Given the description of an element on the screen output the (x, y) to click on. 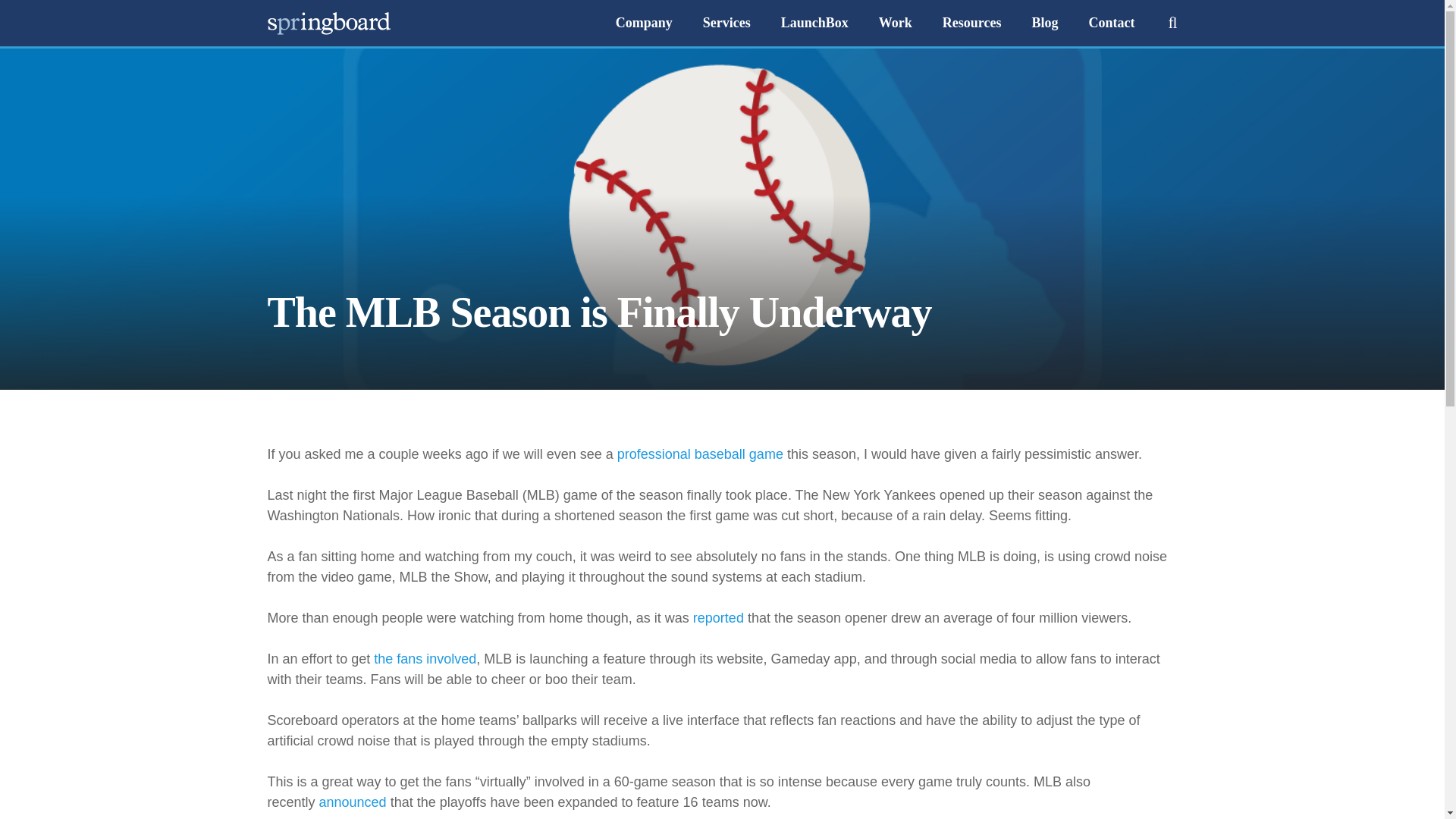
the fans involved (425, 658)
Work (895, 22)
LaunchBox (814, 22)
Contact (1112, 22)
Services (726, 22)
Company (643, 22)
Resources (971, 22)
Blog (1044, 22)
reported (718, 617)
announced (352, 801)
